Given the description of an element on the screen output the (x, y) to click on. 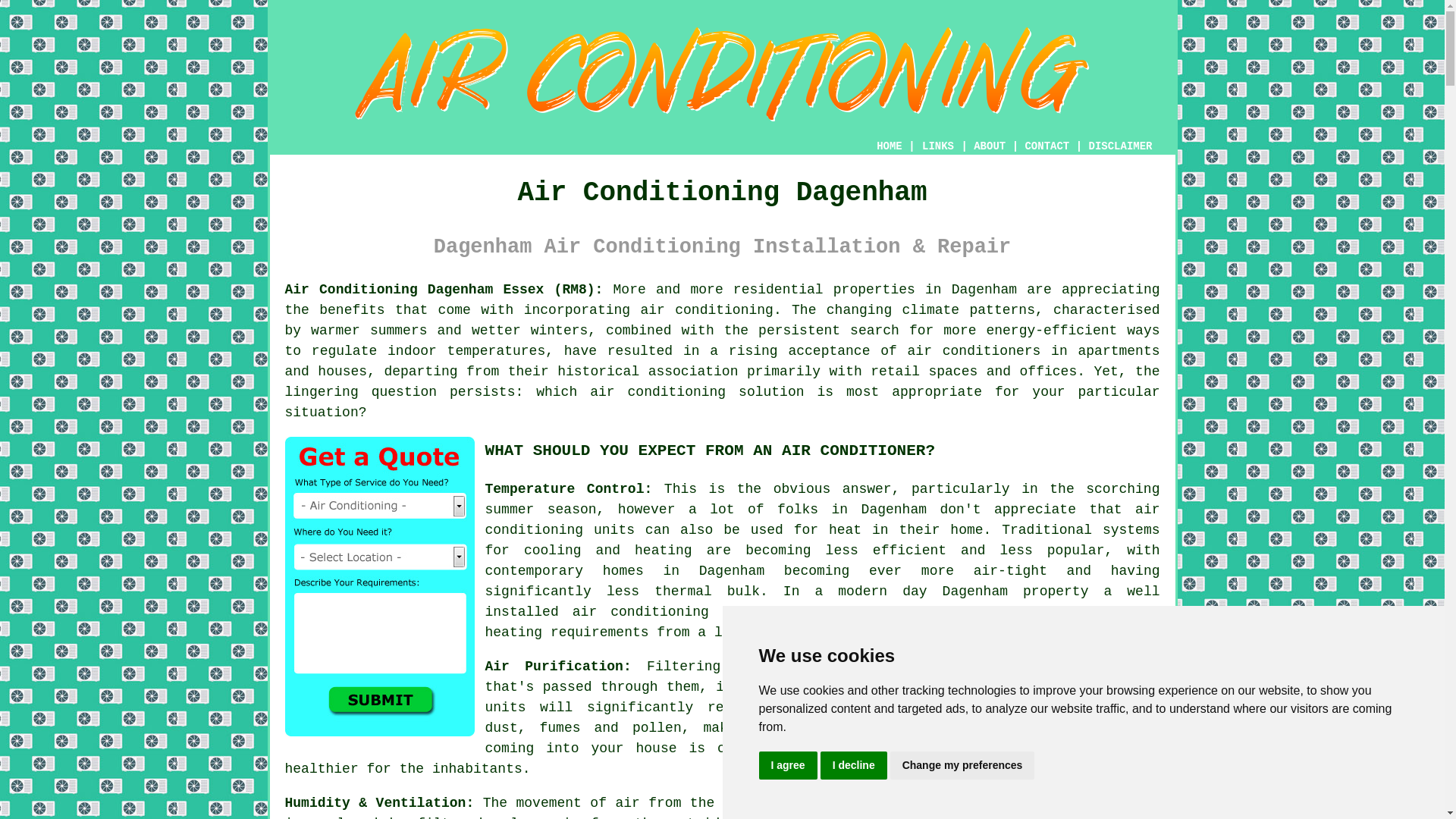
I agree (787, 765)
air conditioning solution (696, 391)
installed air conditioning system (627, 611)
Change my preferences (962, 765)
Air Conditioning Dagenham (722, 74)
I decline (853, 765)
HOME (889, 146)
air conditioning (706, 309)
LINKS (938, 146)
